Given the description of an element on the screen output the (x, y) to click on. 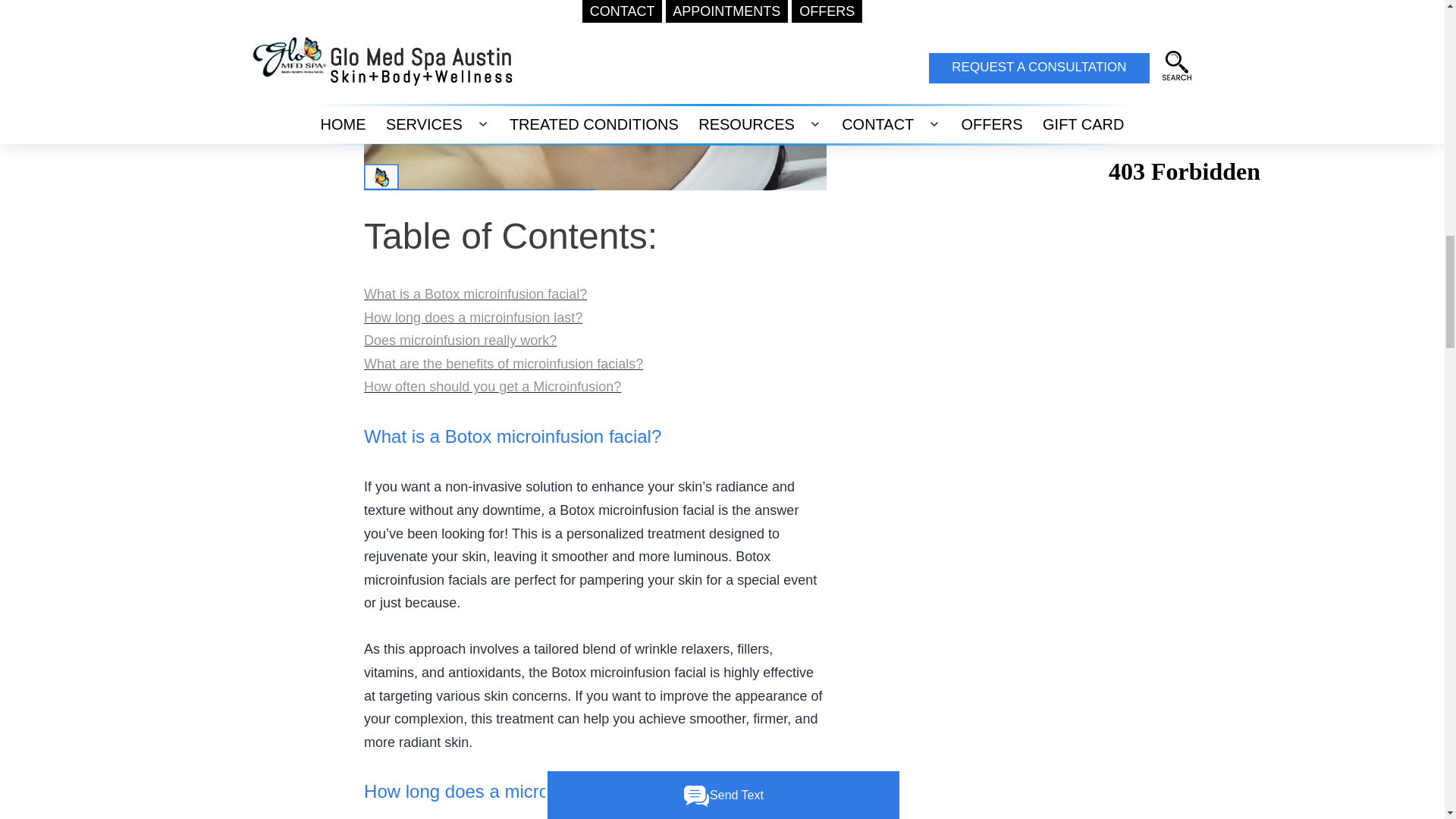
Botox Microinfusion Facial Specialist Near Me in Austin TX (595, 95)
